Given the description of an element on the screen output the (x, y) to click on. 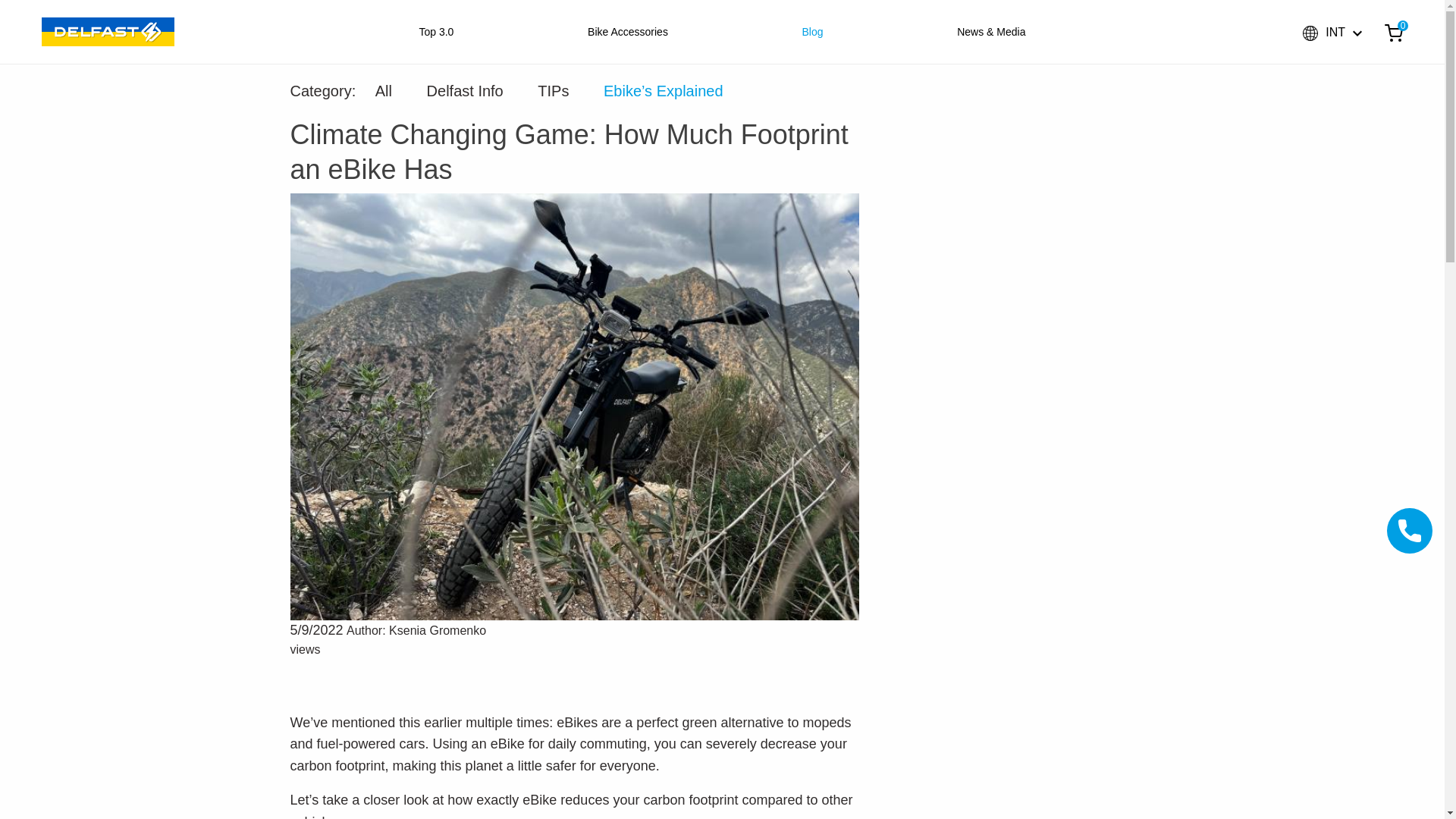
All (383, 90)
Top 3.0 (435, 31)
Delfast Info (465, 90)
Bike Accessories (628, 31)
TIPs (552, 90)
Blog (813, 31)
